Given the description of an element on the screen output the (x, y) to click on. 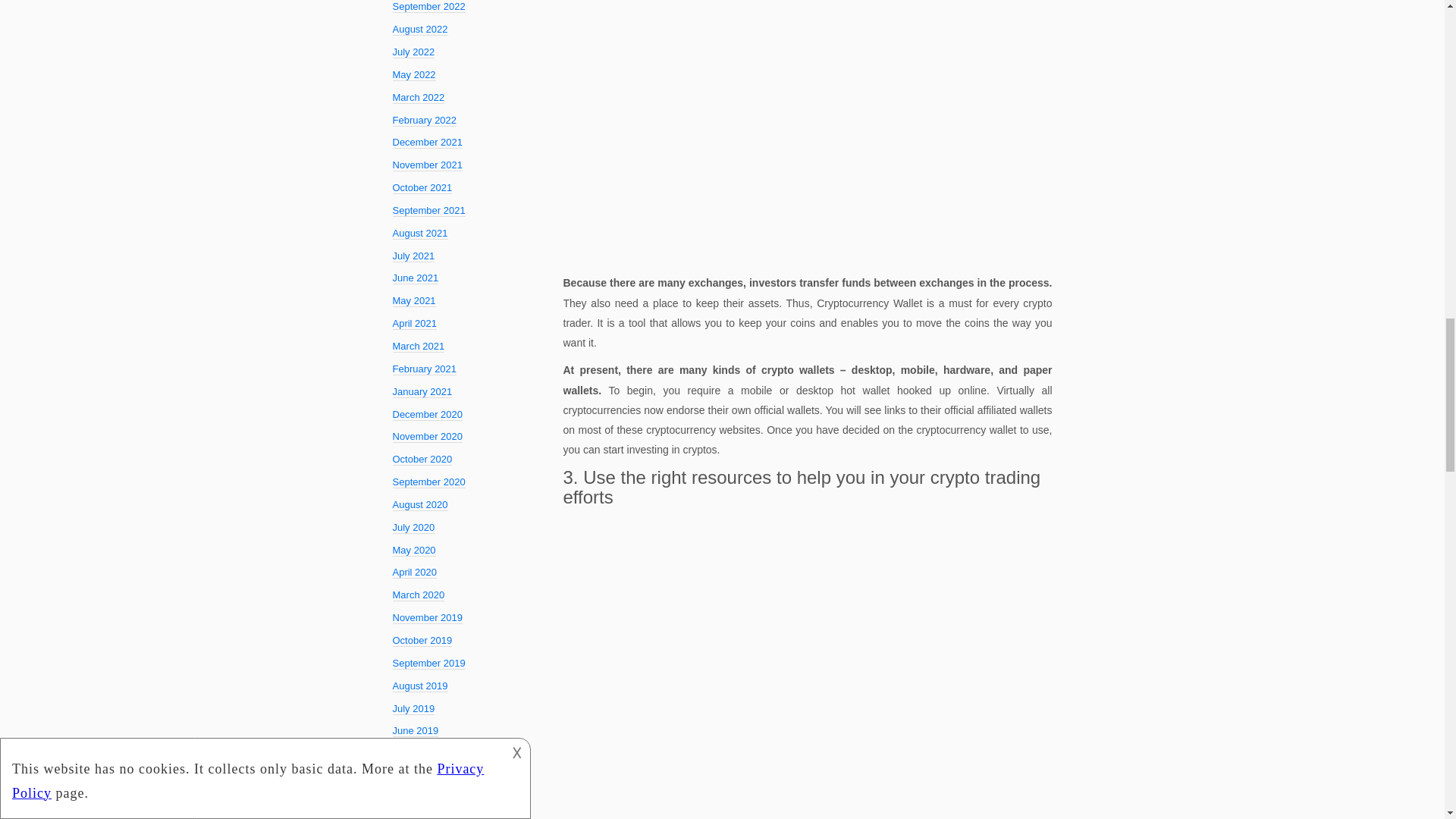
Top 5 Best Cryptocurrency Wallets (806, 132)
